Given the description of an element on the screen output the (x, y) to click on. 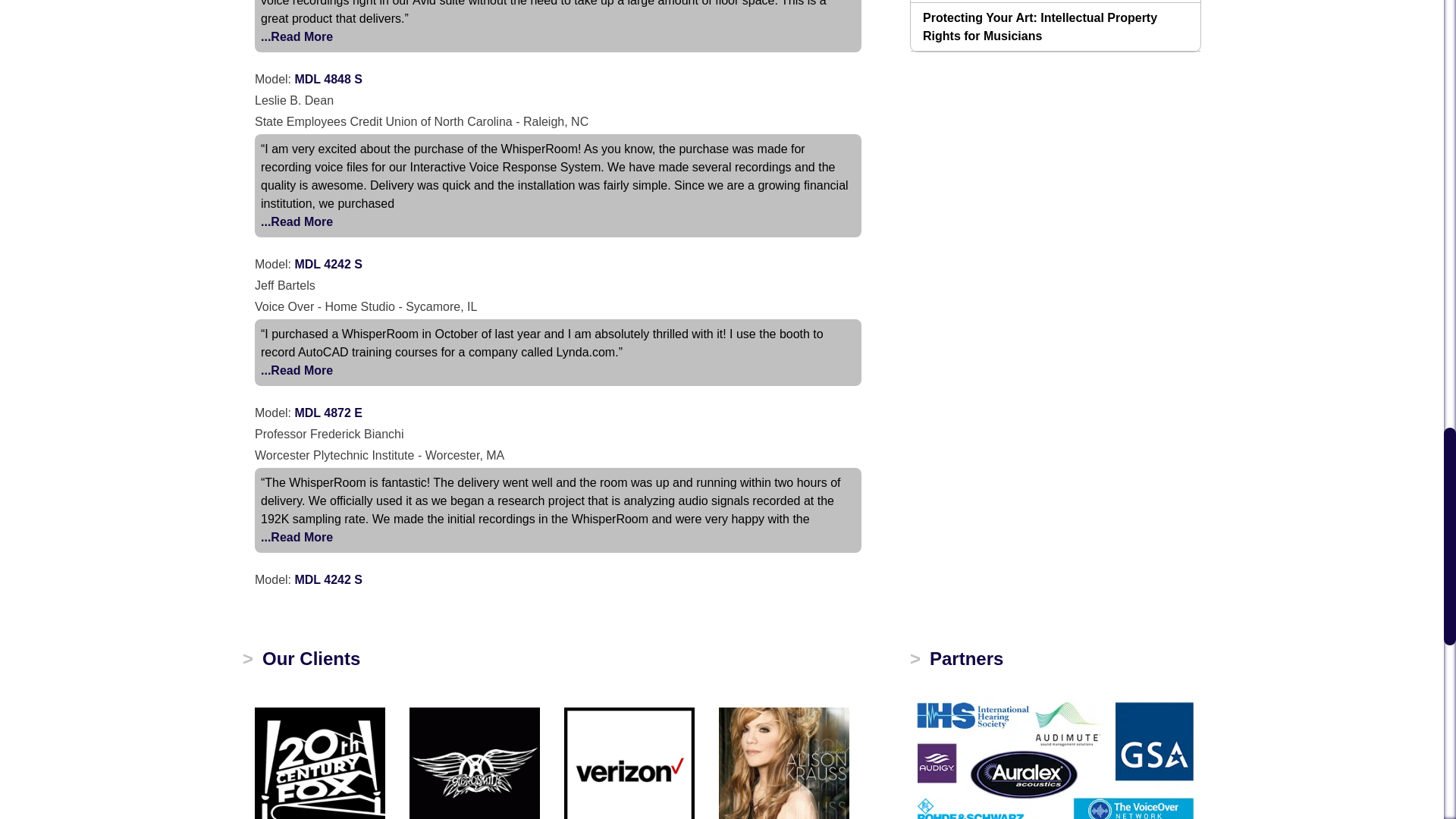
Professor Frederick Bianchi (296, 537)
Leslie B. Dean (296, 221)
20th Century Fox (320, 757)
Verizon (628, 757)
Aerosmith (474, 757)
Terry Dale (296, 36)
Jeff Bartels (296, 370)
Alison Krauss (783, 757)
